Given the description of an element on the screen output the (x, y) to click on. 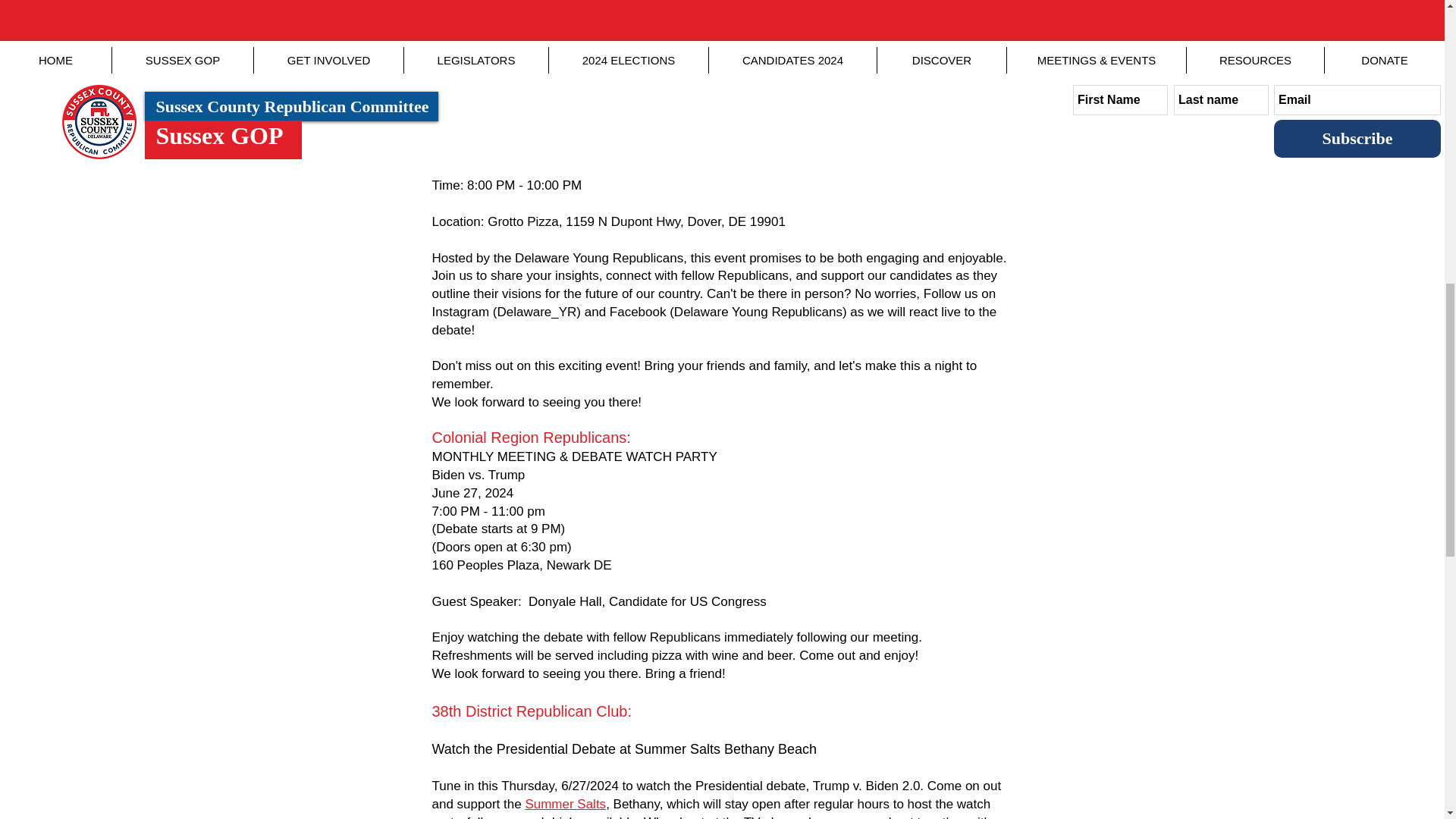
Summer Salts (564, 803)
